Given the description of an element on the screen output the (x, y) to click on. 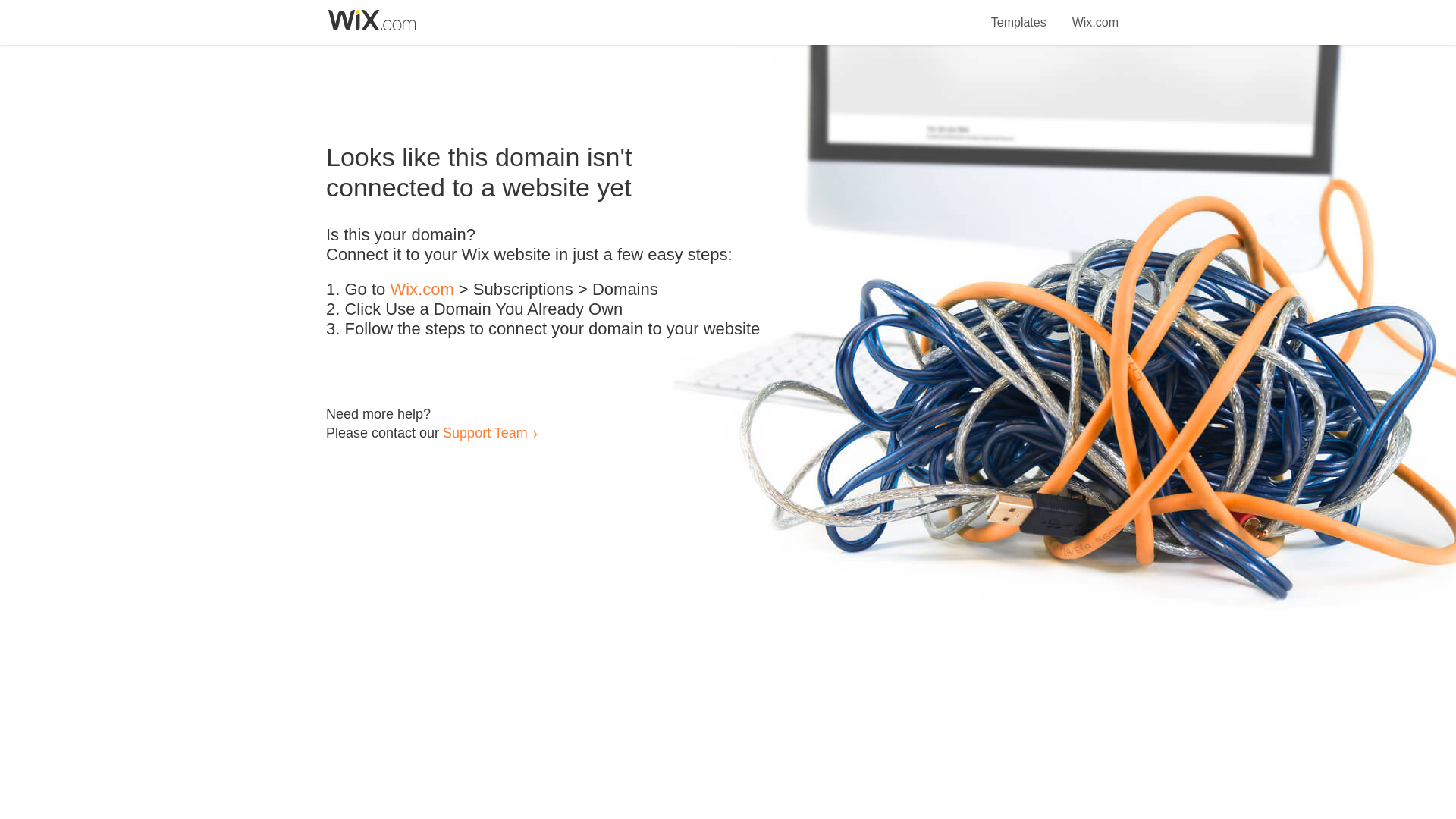
Wix.com (1095, 14)
Templates (1018, 14)
Wix.com (421, 289)
Support Team (484, 432)
